Given the description of an element on the screen output the (x, y) to click on. 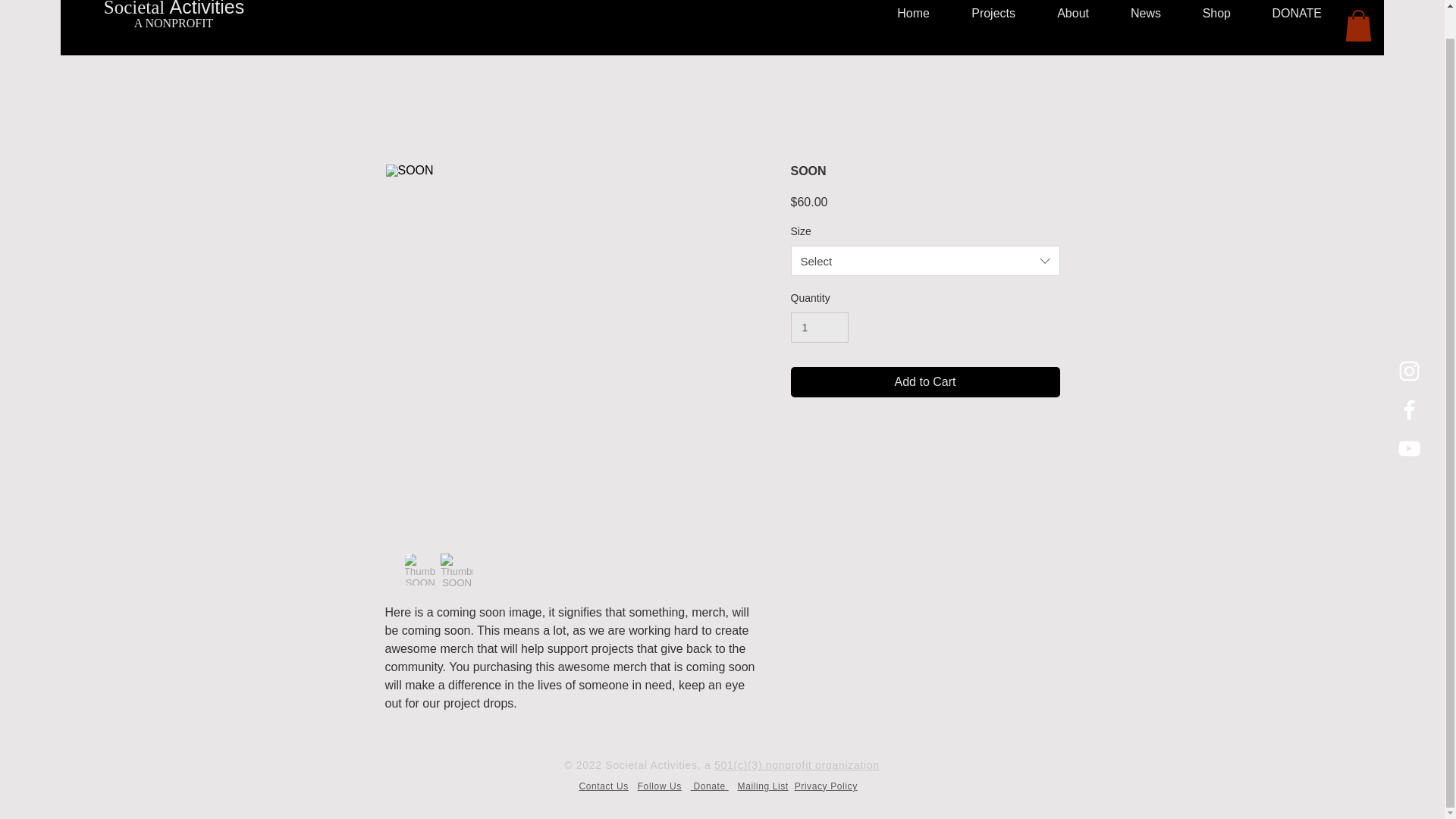
Privacy Policy (825, 786)
A NONPROFIT (172, 22)
About (1063, 20)
Donate  (709, 786)
Select (924, 260)
Follow Us (659, 786)
Home (903, 20)
DONATE (1287, 20)
Projects (983, 20)
1 (818, 327)
Shop (1206, 20)
Add to Cart (924, 381)
Contact Us (603, 786)
Mailing List (763, 786)
Societal (136, 8)
